Given the description of an element on the screen output the (x, y) to click on. 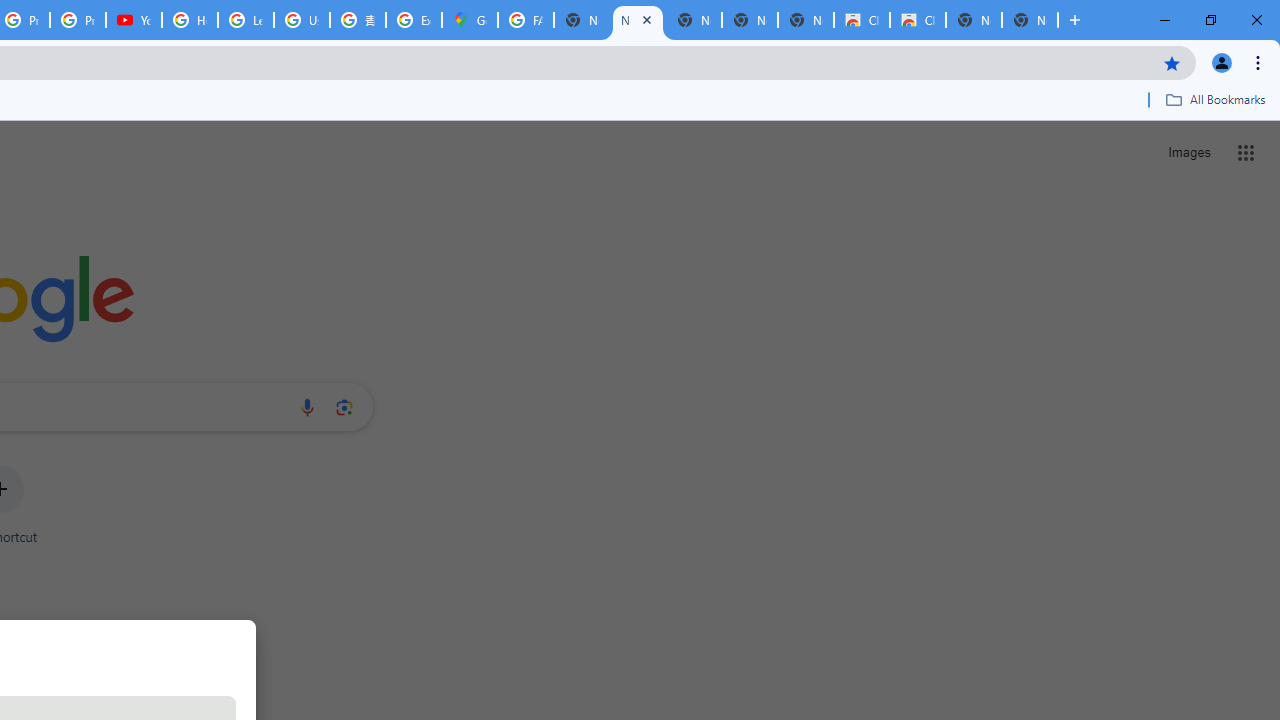
Google Maps (469, 20)
Classic Blue - Chrome Web Store (861, 20)
New Tab (1030, 20)
Privacy Checkup (77, 20)
Classic Blue - Chrome Web Store (917, 20)
